Given the description of an element on the screen output the (x, y) to click on. 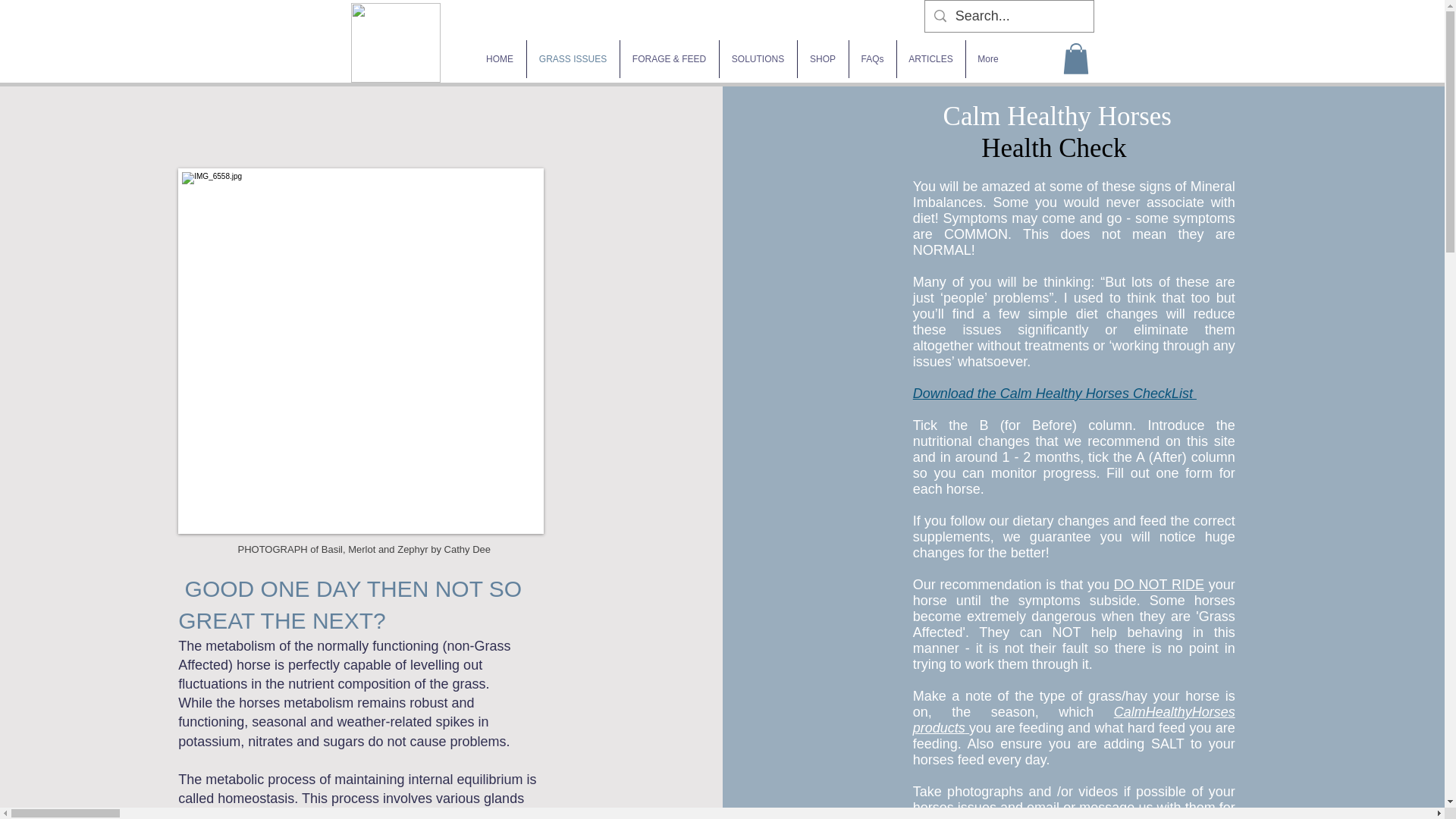
GRASS ISSUES (571, 58)
SOLUTIONS (757, 58)
HOME (499, 58)
